Given the description of an element on the screen output the (x, y) to click on. 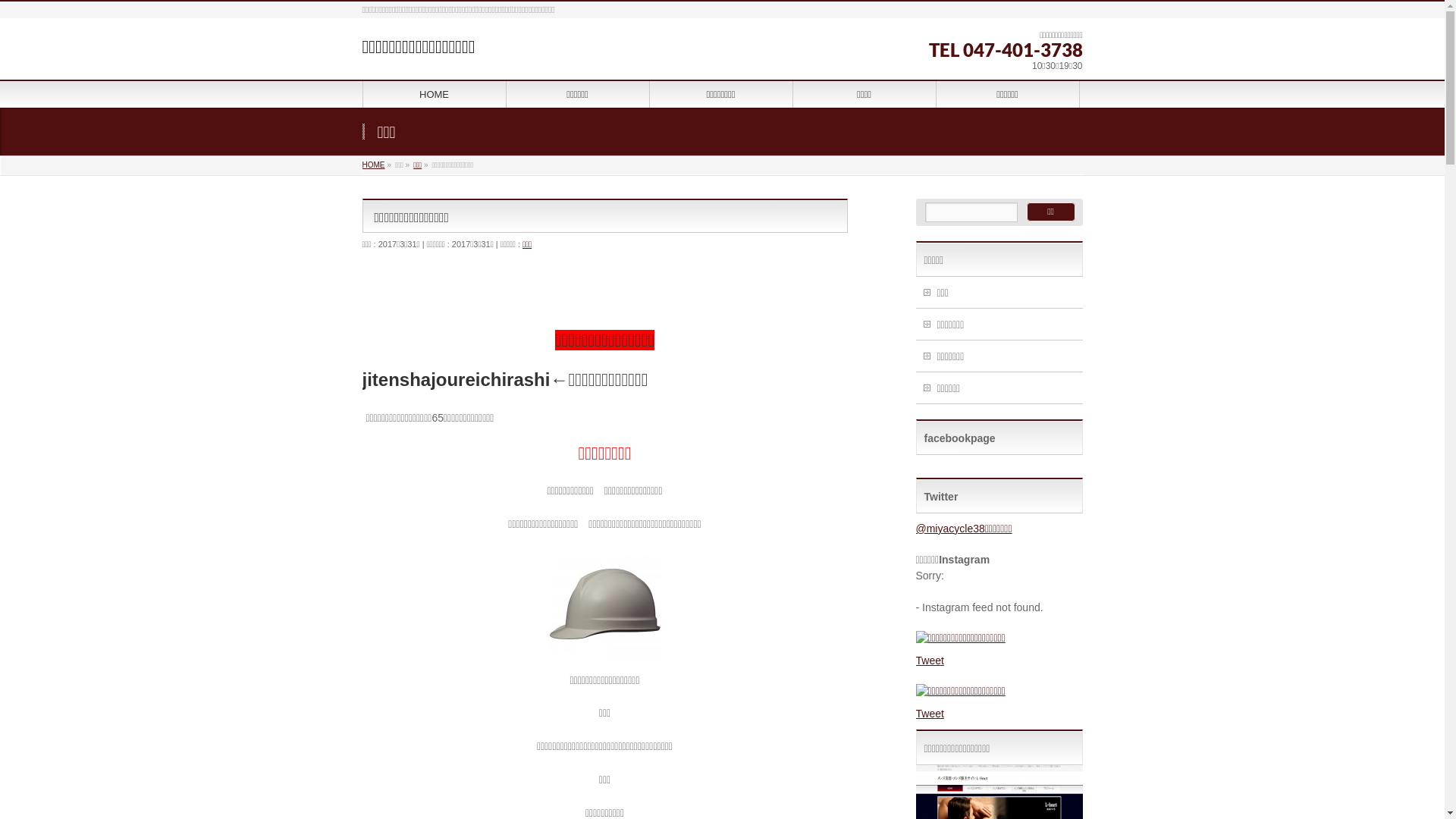
HOME Element type: text (433, 93)
Tweet Element type: text (930, 713)
jitenshajoureichirashi Element type: text (456, 379)
Tweet Element type: text (930, 660)
HOME Element type: text (373, 164)
